Given the description of an element on the screen output the (x, y) to click on. 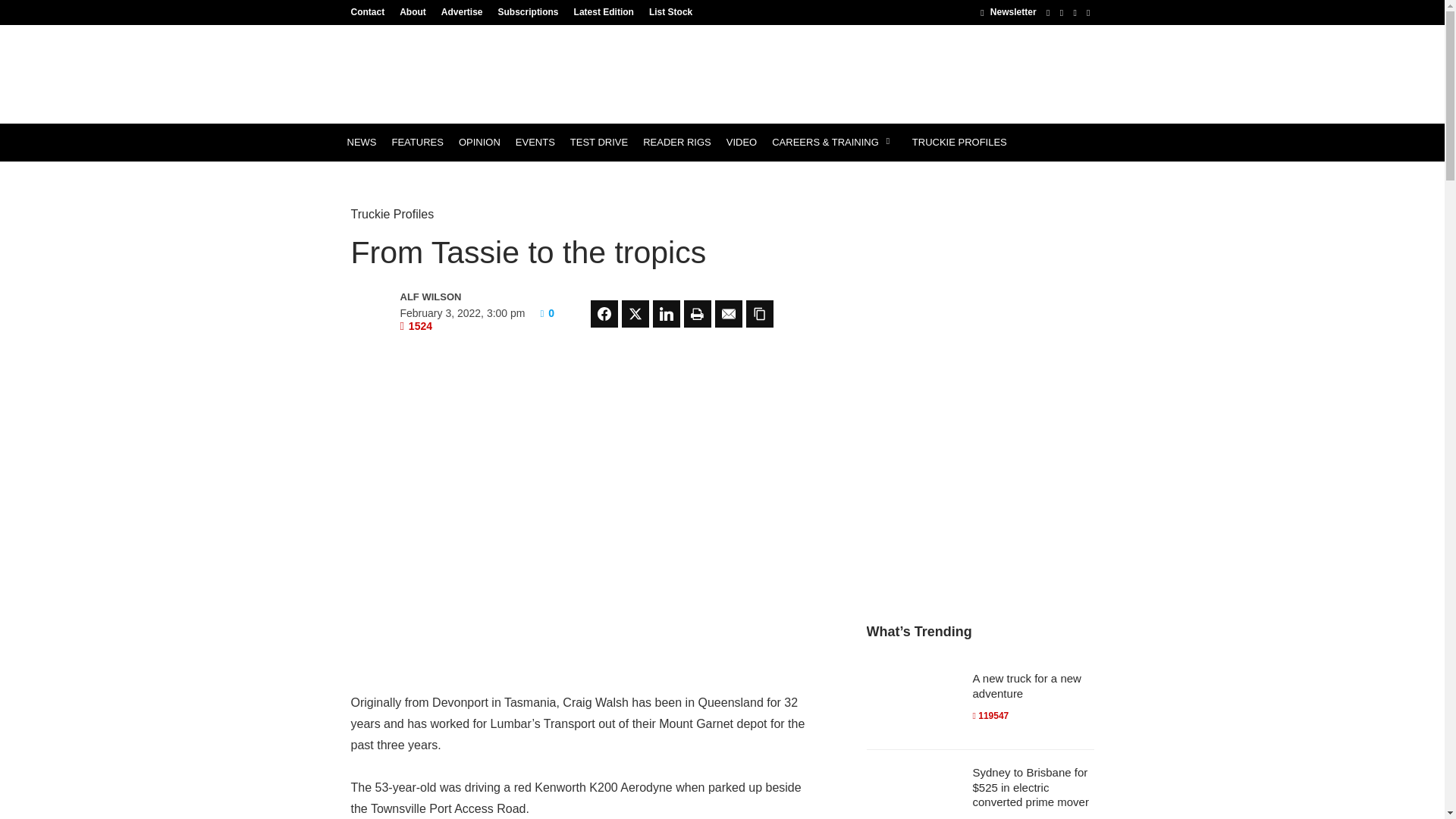
View all posts by Alf Wilson (465, 296)
Share on LinkedIn (665, 313)
Subscriptions (528, 11)
Latest Edition (604, 11)
EVENTS (535, 142)
VIDEO (741, 142)
List Stock (667, 11)
Truckie Profiles (391, 214)
MARKETPLACE (383, 180)
Share on Facebook (604, 313)
Advertise (461, 11)
READER RIGS (676, 142)
Share on Twitter (635, 313)
Newsletter (1007, 11)
Contact (370, 11)
